Given the description of an element on the screen output the (x, y) to click on. 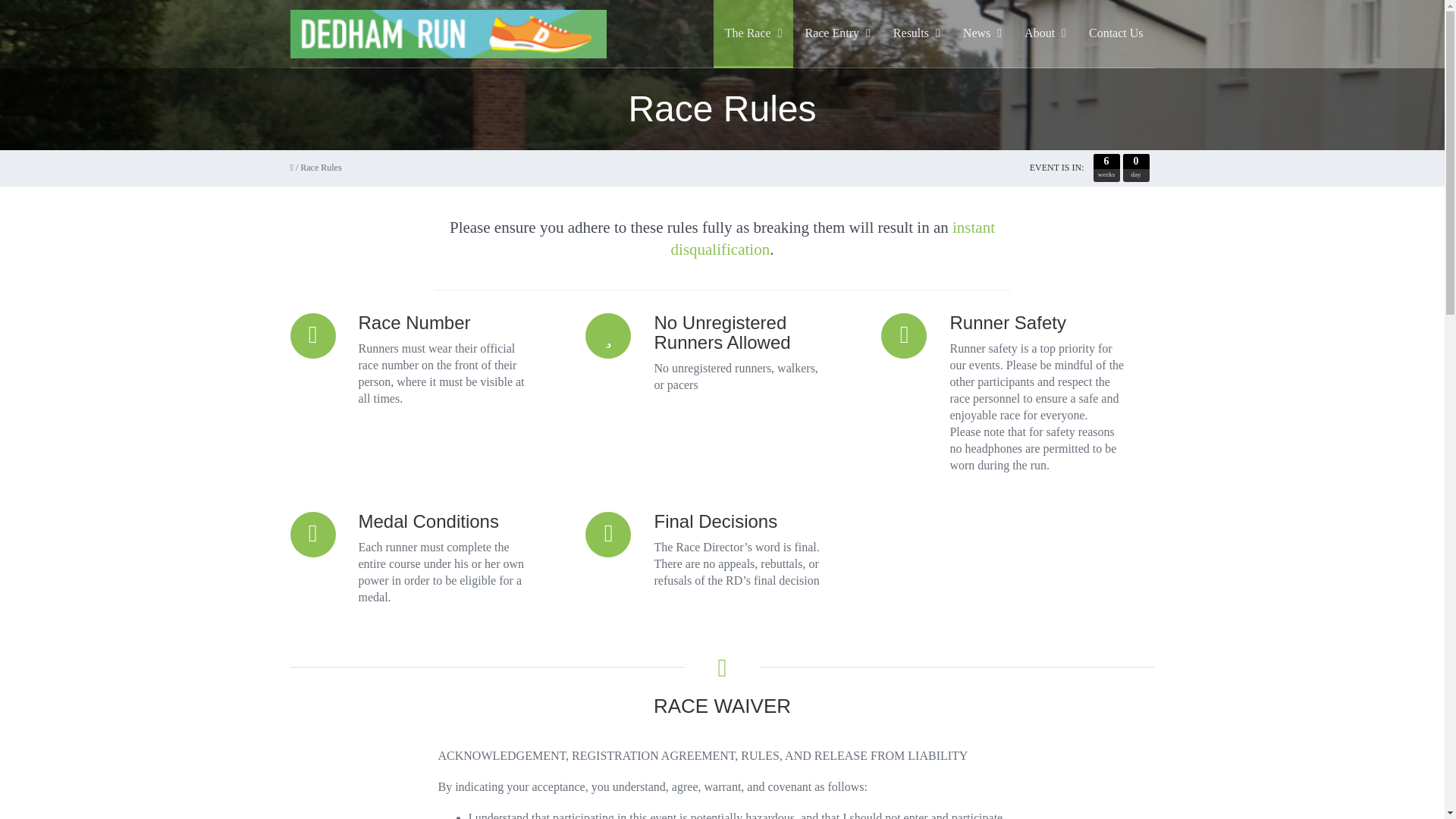
Contact Us (1115, 33)
Race Entry (836, 33)
News (982, 33)
Results (917, 33)
The Race (753, 33)
About (1045, 33)
